Given the description of an element on the screen output the (x, y) to click on. 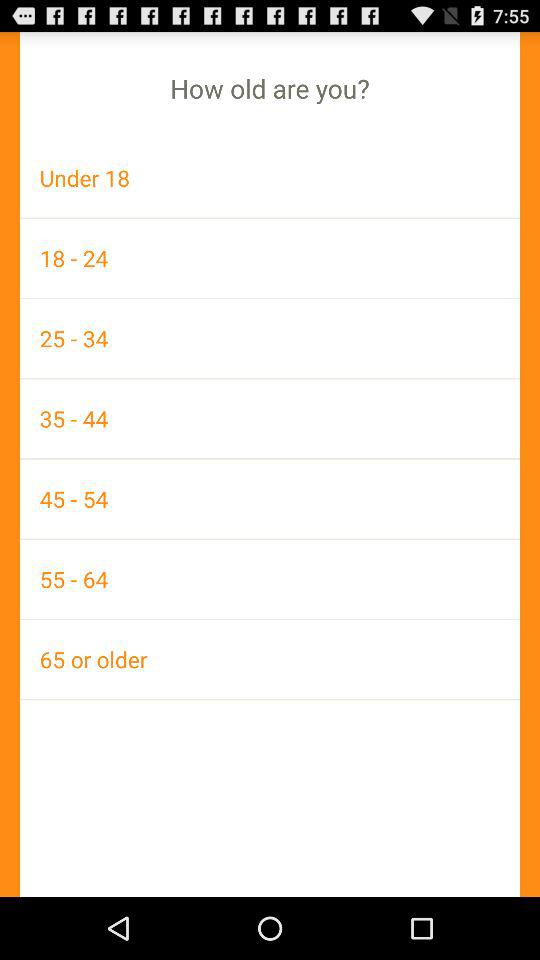
choose under 18 item (269, 177)
